Given the description of an element on the screen output the (x, y) to click on. 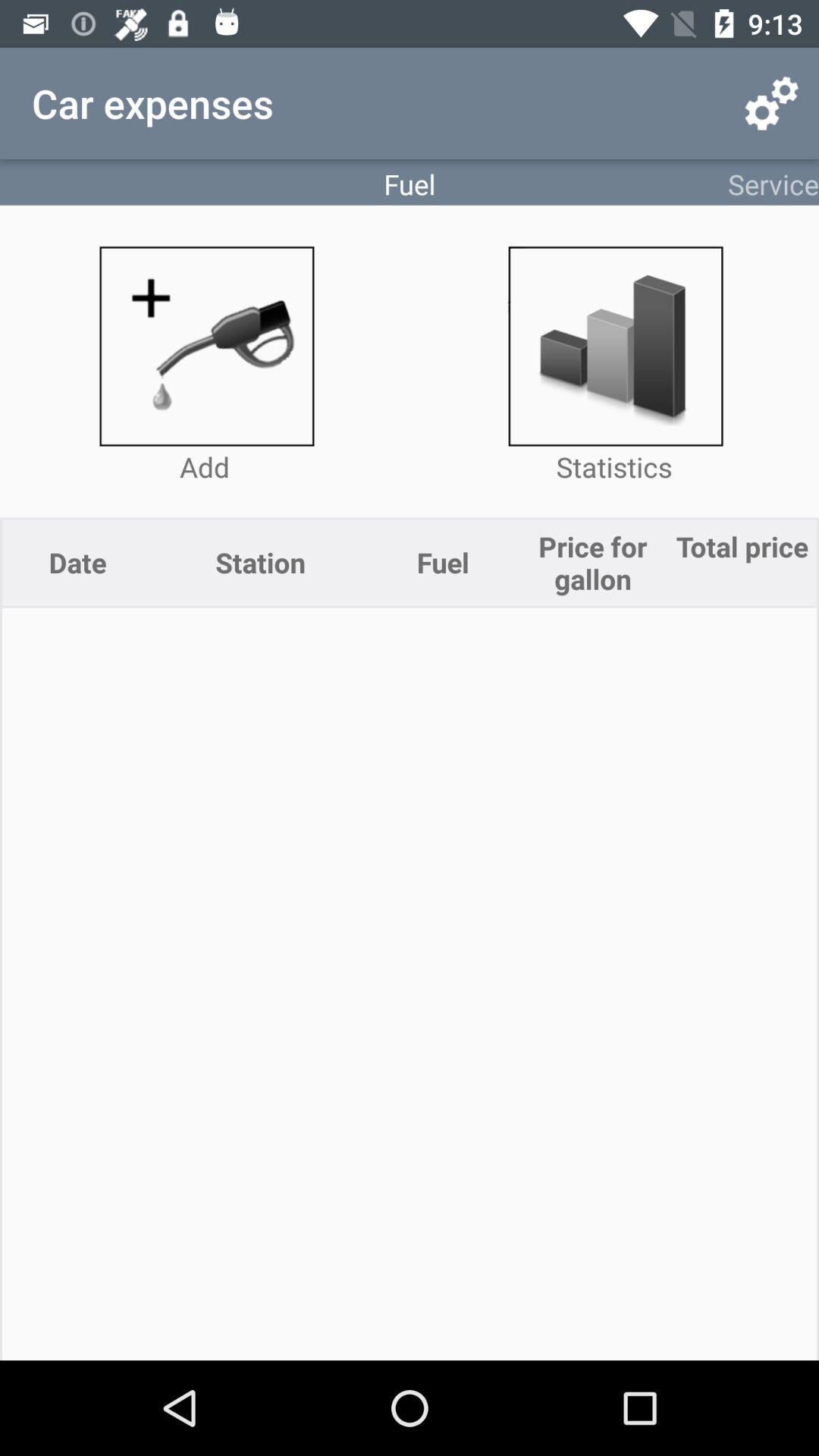
select add (204, 345)
